Given the description of an element on the screen output the (x, y) to click on. 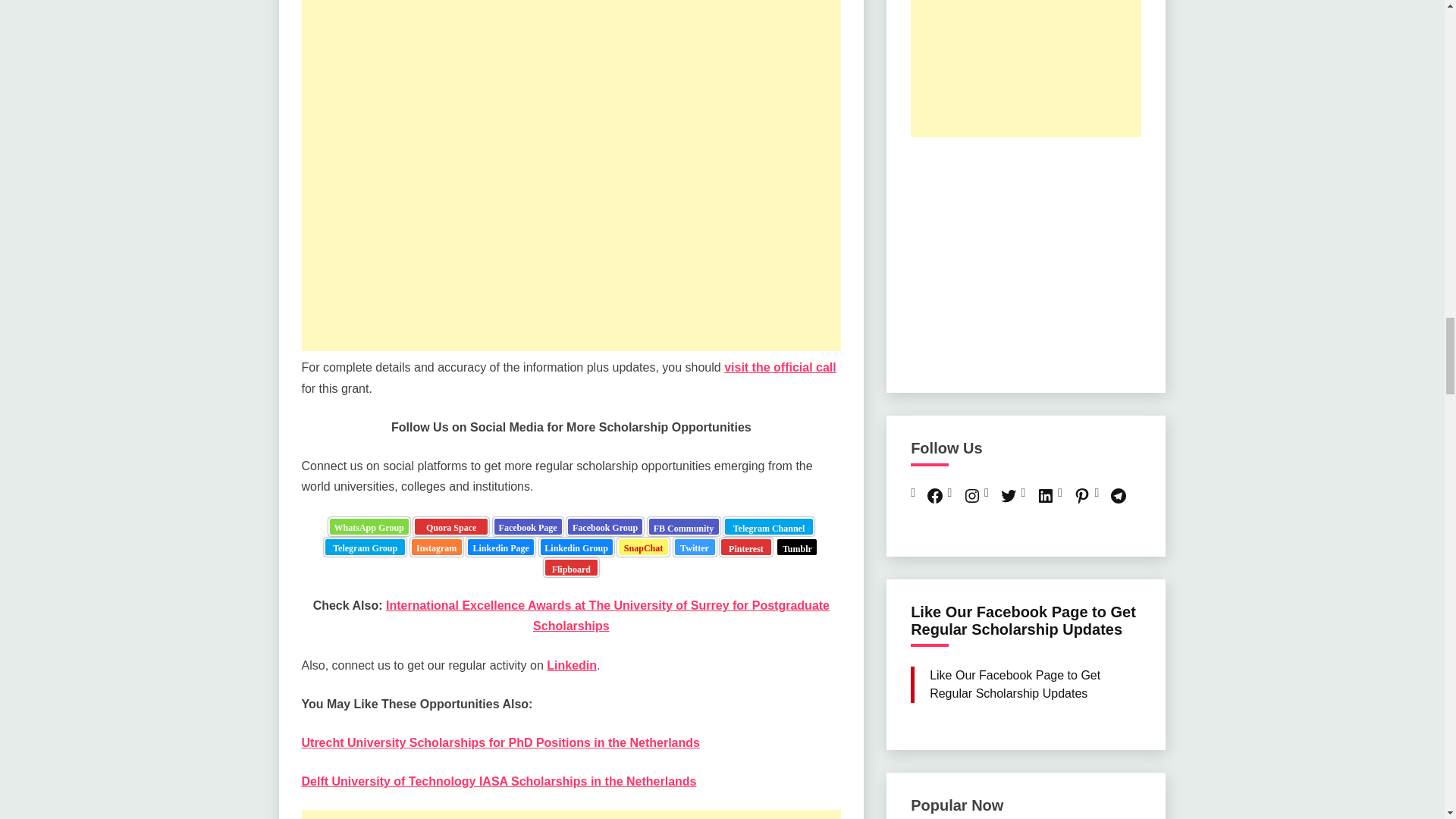
Telegram Channel (768, 526)
Get Fully Funded Foreign Scholarships (683, 526)
WhatsApp Group (369, 526)
FB Community (683, 526)
Fully Funded Scholarship (451, 526)
Quora Space (451, 526)
Ocean of Scholarships, Visa Guidance and Much More (768, 526)
visit the official call (779, 367)
Get Regular Scholarship Updates (604, 526)
Facebook Group (604, 526)
Facebook Page (528, 526)
Join Our WhatsApp Group (369, 526)
Like Our Facebook Page for Scholarship Updates (528, 526)
